Given the description of an element on the screen output the (x, y) to click on. 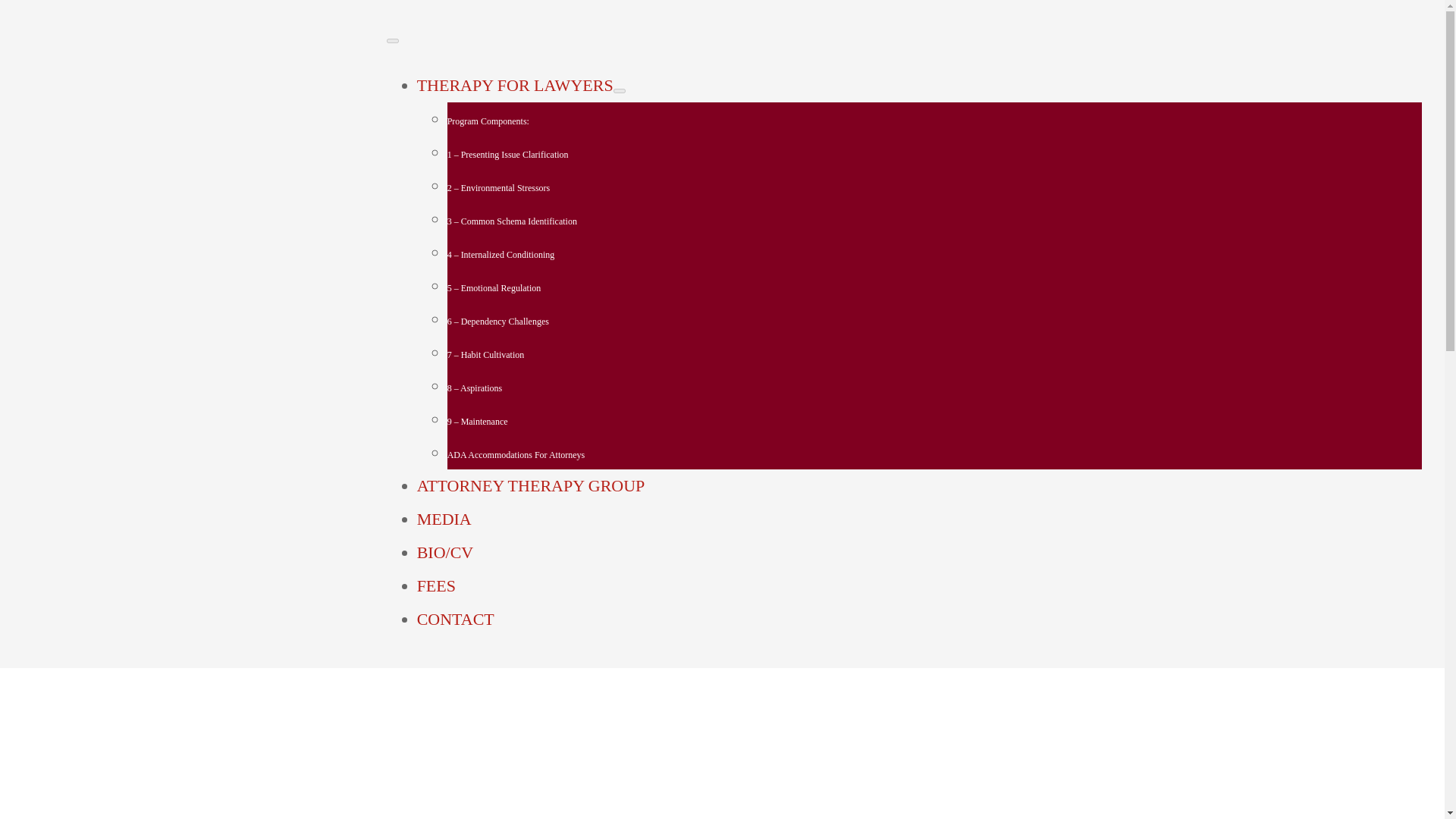
FEES (435, 585)
Toggle Navigation (392, 40)
MEDIA (443, 518)
ADA Accommodations For Attorneys (515, 454)
Program Components: (487, 121)
THERAPY FOR LAWYERS (514, 85)
CONTACT (455, 618)
ATTORNEY THERAPY GROUP (530, 485)
